Given the description of an element on the screen output the (x, y) to click on. 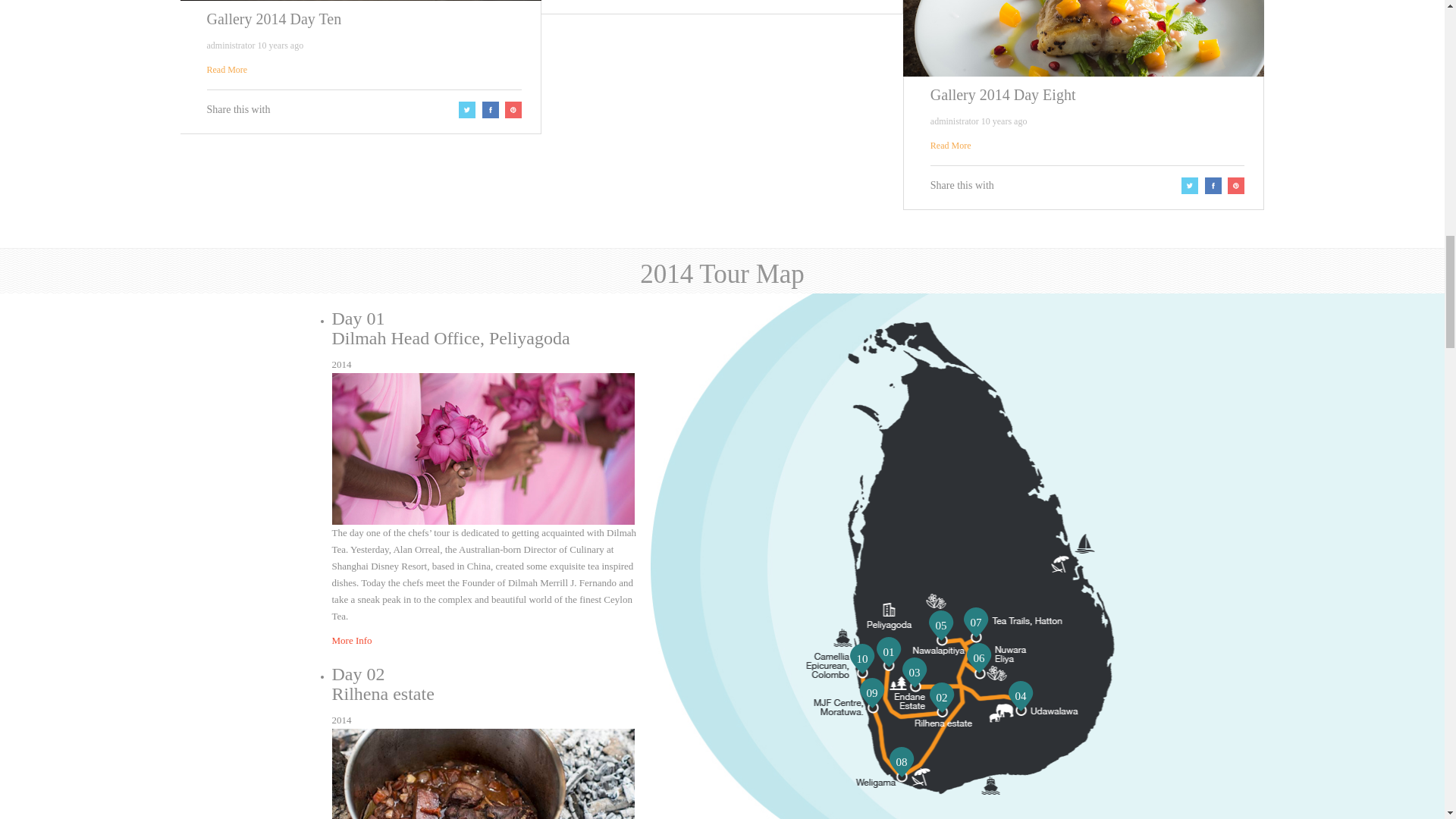
Read More (226, 69)
Read more about Gallery 2014 Day Ten (226, 69)
